Given the description of an element on the screen output the (x, y) to click on. 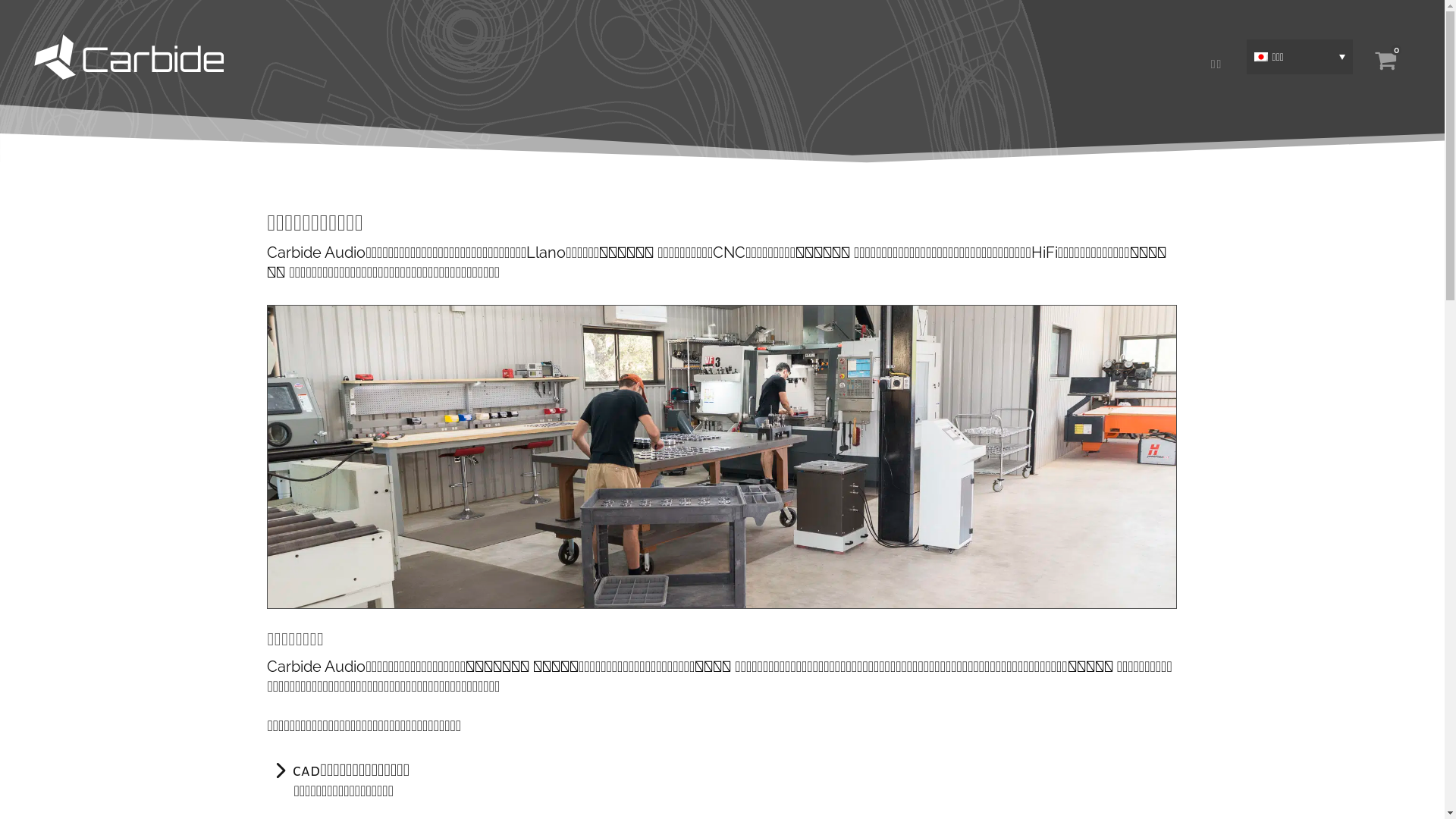
0 Element type: text (1385, 59)
